Given the description of an element on the screen output the (x, y) to click on. 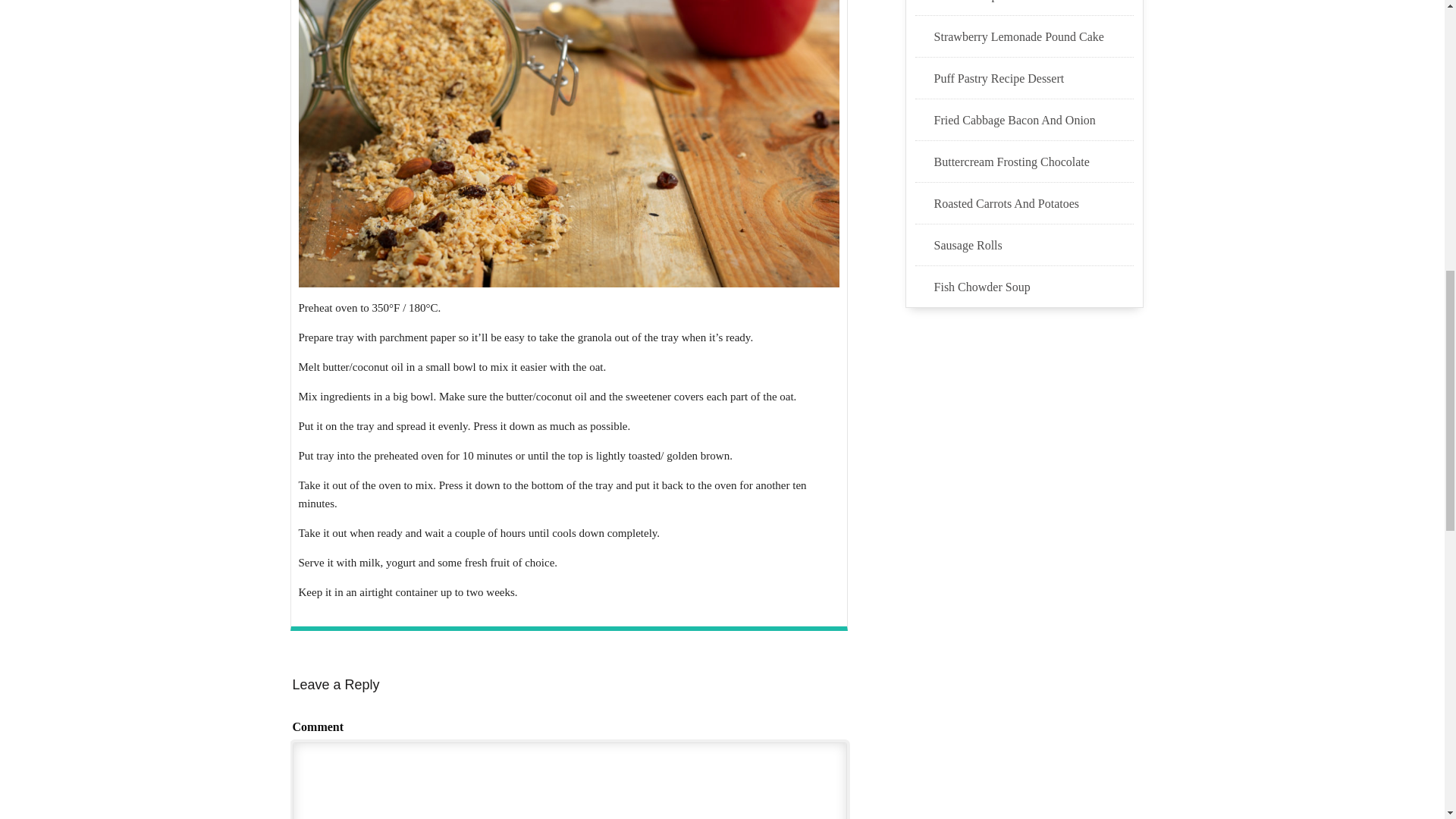
Puff Pastry Recipe Dessert (1034, 78)
Noodle Soup (1034, 2)
Sausage Rolls (1034, 245)
Buttercream Frosting Chocolate (1034, 162)
Fried Cabbage Bacon And Onion (1034, 120)
Strawberry Lemonade Pound Cake (1034, 36)
Roasted Carrots And Potatoes (1034, 203)
Fish Chowder Soup (1034, 287)
